Given the description of an element on the screen output the (x, y) to click on. 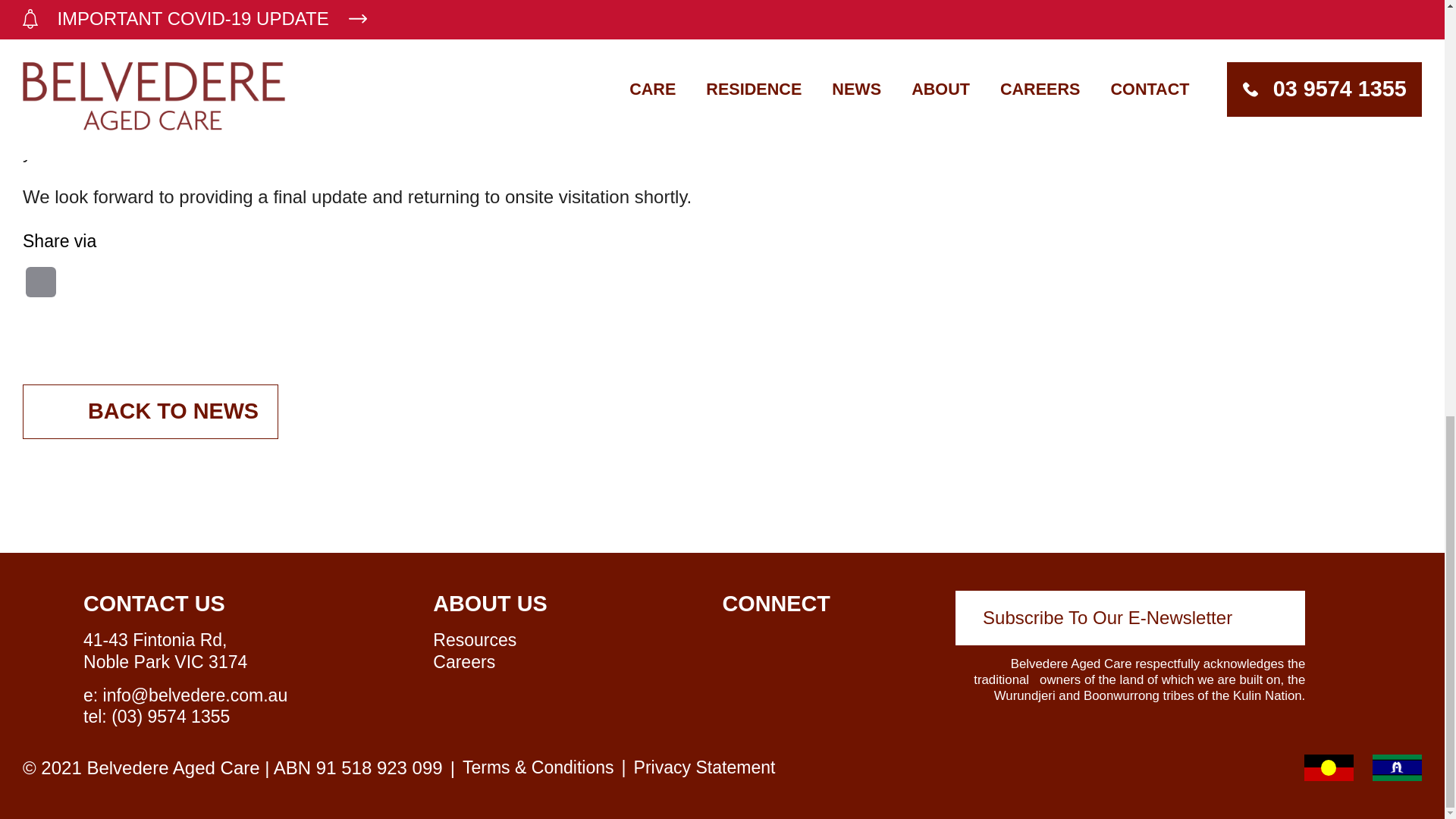
BACK TO NEWS (150, 411)
Privacy Statement (704, 767)
Careers (463, 661)
Resources (474, 639)
